Given the description of an element on the screen output the (x, y) to click on. 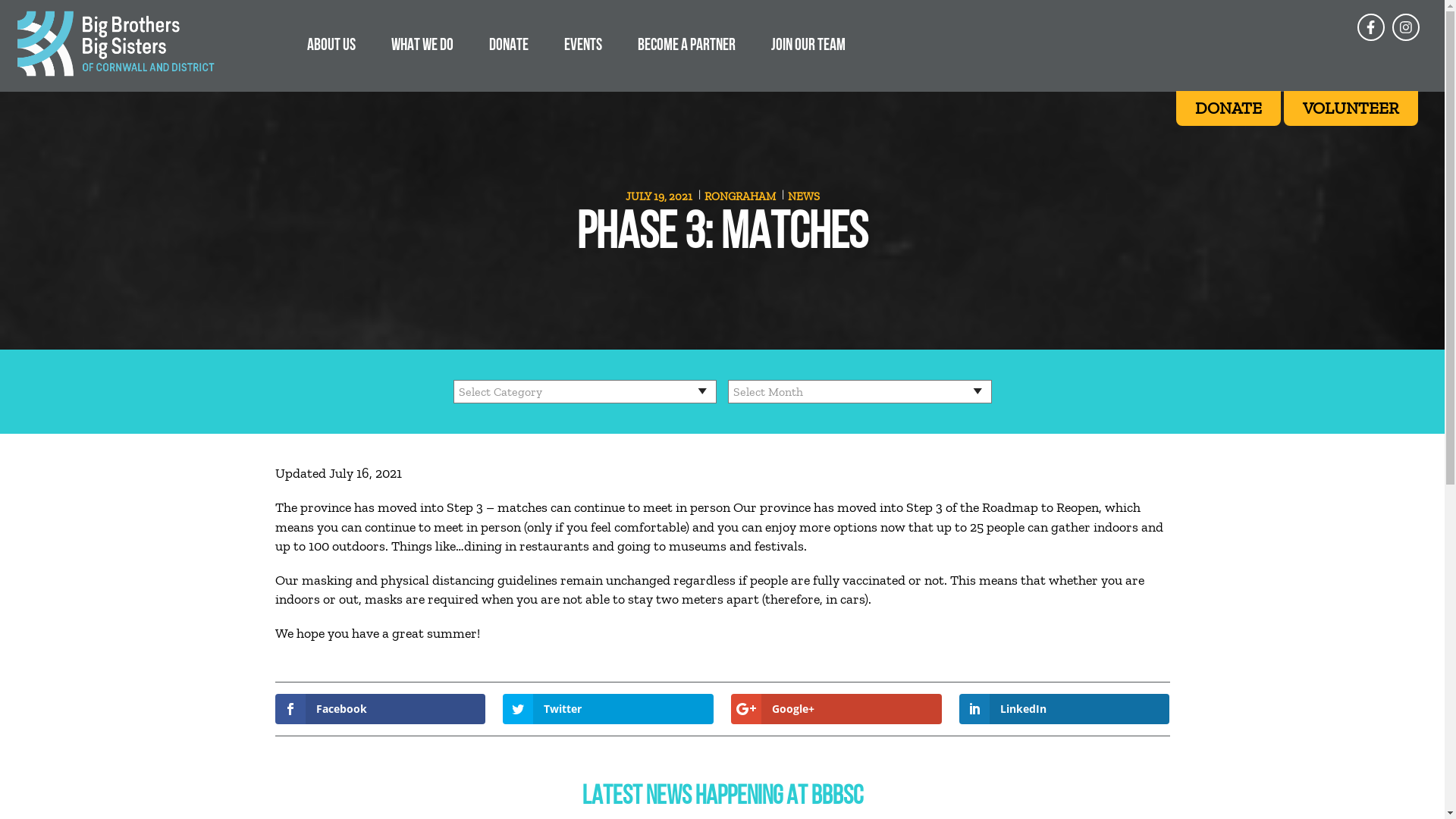
BECOME A PARTNER Element type: text (686, 44)
DONATE Element type: text (508, 44)
WHAT WE DO Element type: text (422, 44)
EVENTS Element type: text (583, 44)
JOIN OUR TEAM Element type: text (808, 44)
Google+ Element type: text (836, 708)
JULY 19, 2021 Element type: text (658, 196)
Facebook Element type: text (379, 708)
Twitter Element type: text (607, 708)
ABOUT US Element type: text (330, 44)
DONATE Element type: text (1228, 108)
VOLUNTEER Element type: text (1350, 108)
RONGRAHAM Element type: text (740, 196)
NEWS Element type: text (803, 196)
LinkedIn Element type: text (1064, 708)
